Given the description of an element on the screen output the (x, y) to click on. 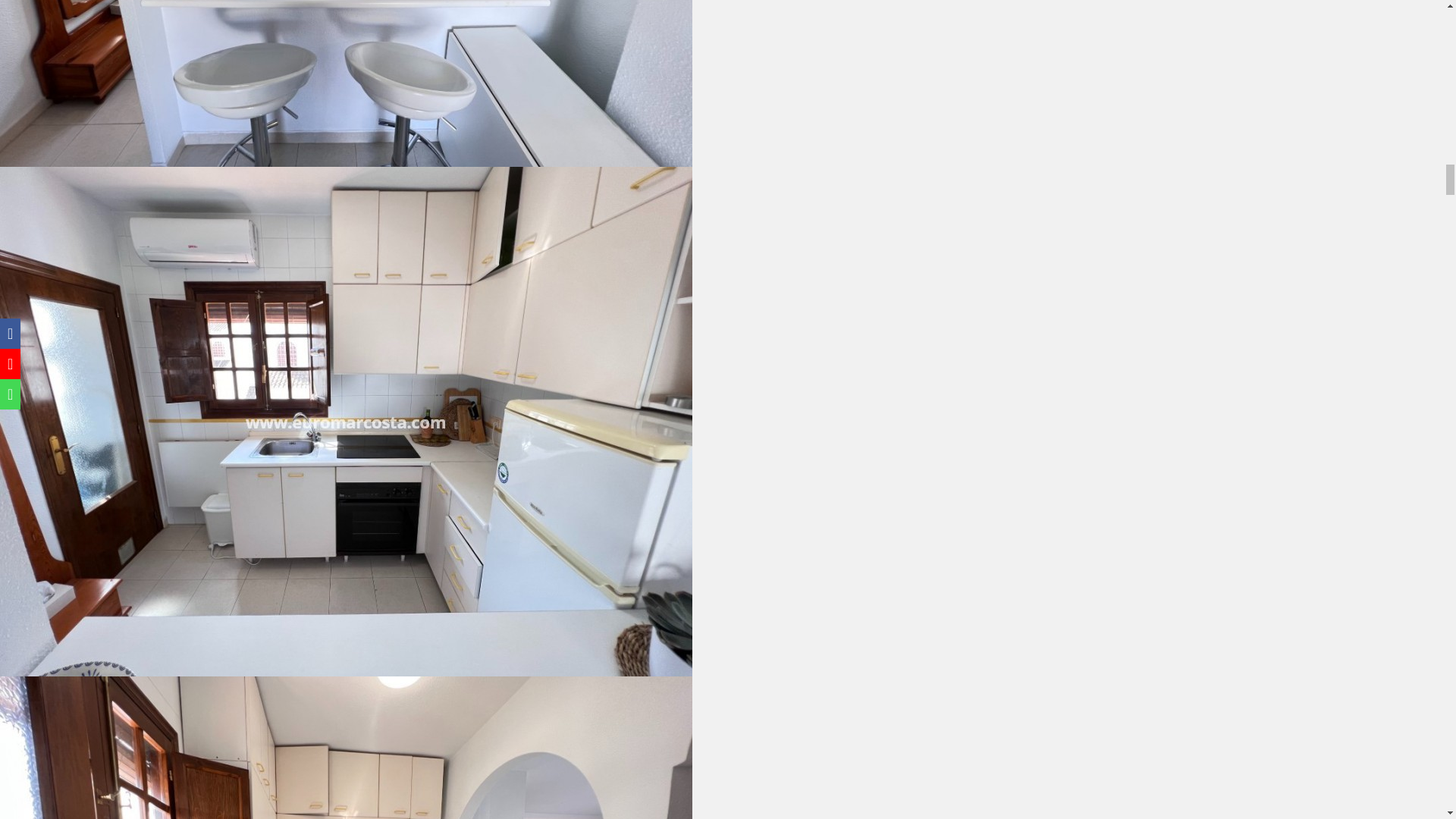
Short time rental - Penthouse - Torrevieja - TORREVIEJA (346, 83)
Short time rental - Penthouse - Torrevieja - TORREVIEJA (346, 747)
